Given the description of an element on the screen output the (x, y) to click on. 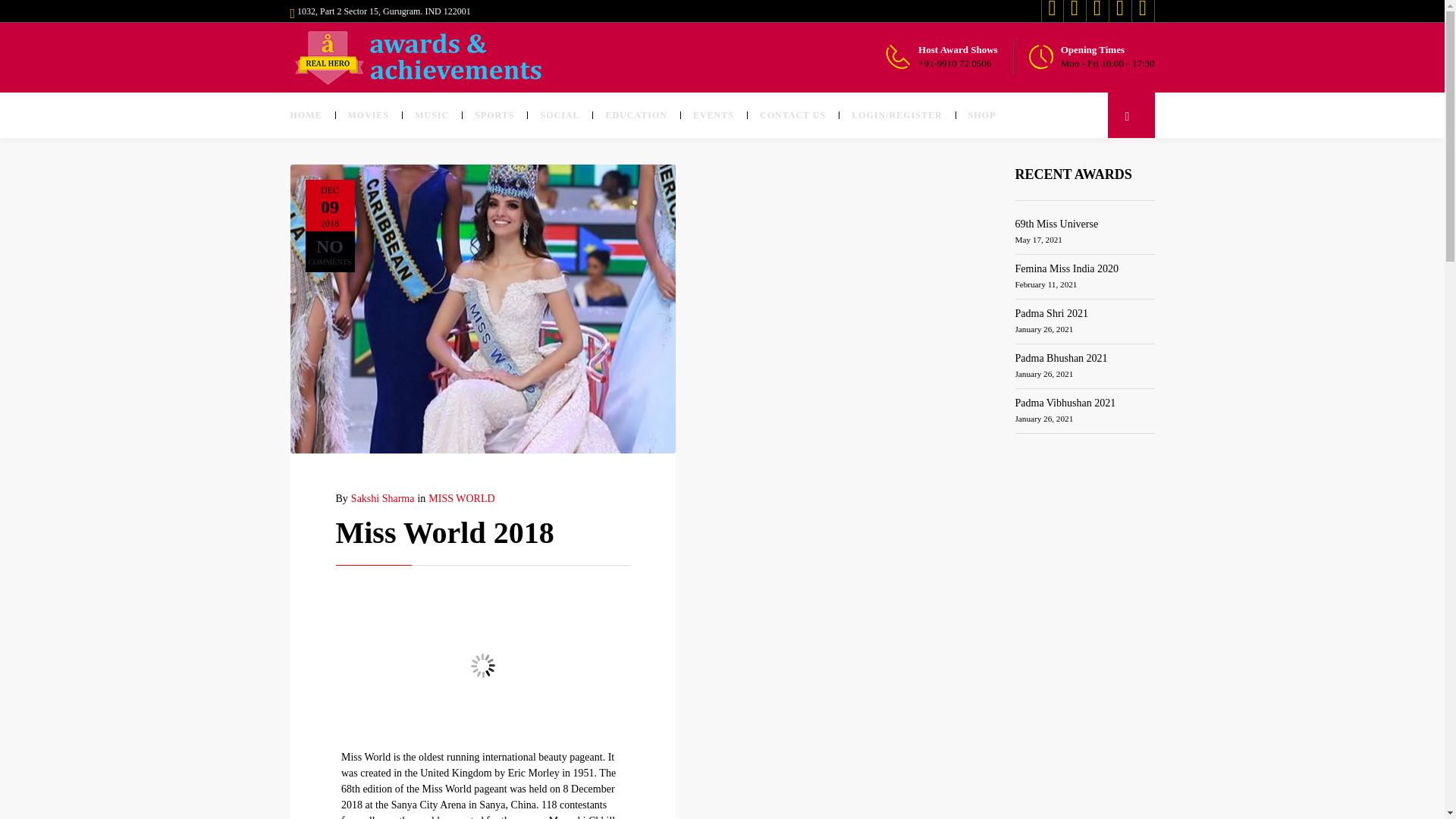
EVENTS (712, 115)
SOCIAL (559, 115)
Padma Bhushan 2021 (1060, 357)
Miss World 2018 (443, 532)
MISS WORLD (461, 498)
Femina Miss India 2020 (1066, 268)
MOVIES (368, 115)
SHOP (982, 115)
SPORTS (494, 115)
HOME (311, 115)
EDUCATION (635, 115)
Padma Vibhushan 2021 (1064, 402)
CONTACT US (792, 115)
